Given the description of an element on the screen output the (x, y) to click on. 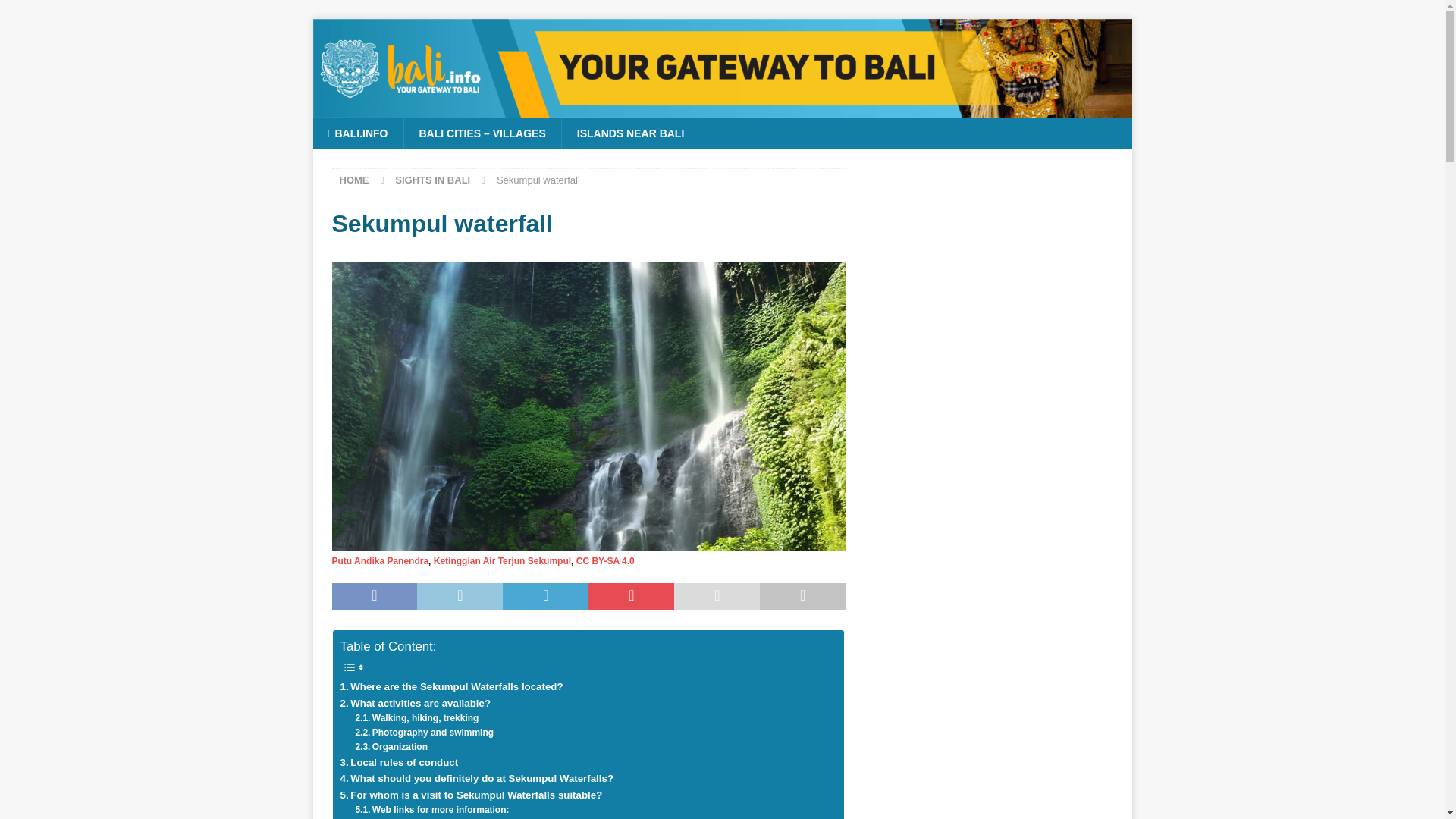
What should you definitely do at Sekumpul Waterfalls? (475, 778)
Where are the Sekumpul Waterfalls located? (450, 686)
For whom is a visit to Sekumpul Waterfalls suitable? (470, 795)
HOME (354, 179)
ISLANDS NEAR BALI (630, 133)
What activities are available? (414, 703)
Where are the Sekumpul Waterfalls located? (450, 686)
Bali.info (722, 108)
Photography and swimming (424, 732)
Walking, hiking, trekking (417, 718)
